Given the description of an element on the screen output the (x, y) to click on. 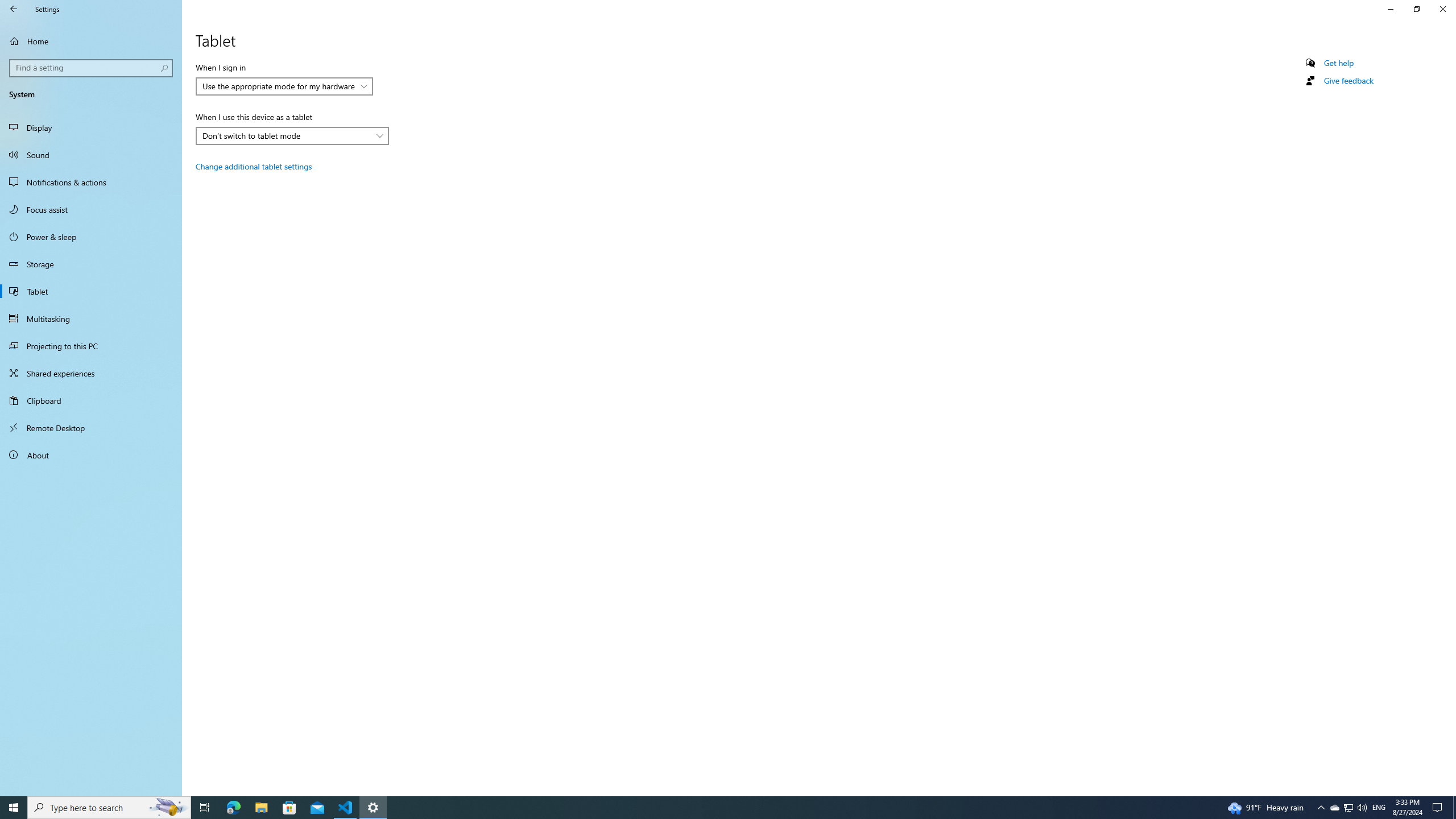
Notifications & actions (91, 181)
Change additional tablet settings (253, 166)
Focus assist (91, 208)
Power & sleep (91, 236)
Sound (91, 154)
About (91, 454)
Shared experiences (91, 372)
Storage (91, 263)
Display (91, 126)
